Given the description of an element on the screen output the (x, y) to click on. 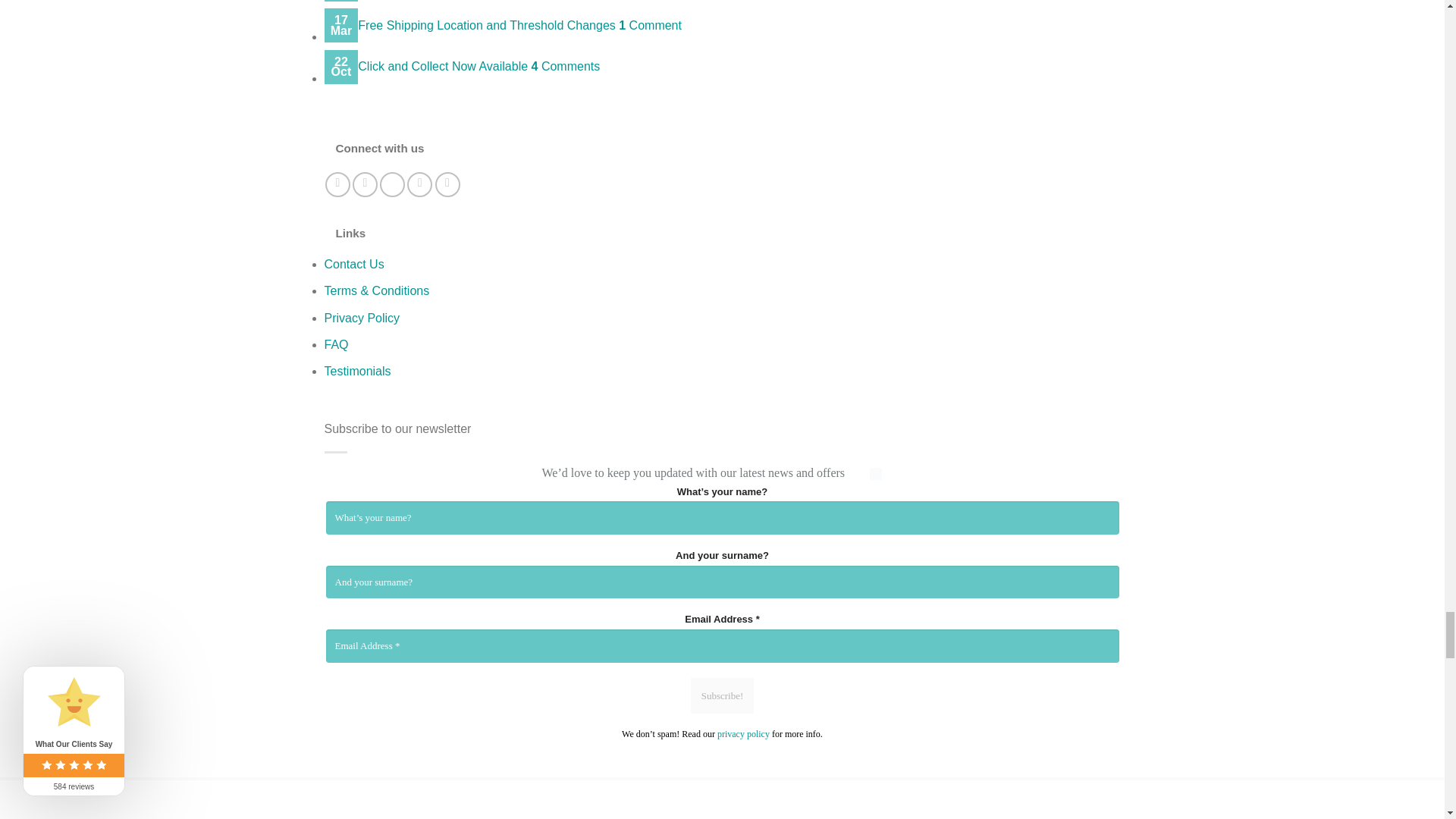
Subscribe! (722, 696)
